Given the description of an element on the screen output the (x, y) to click on. 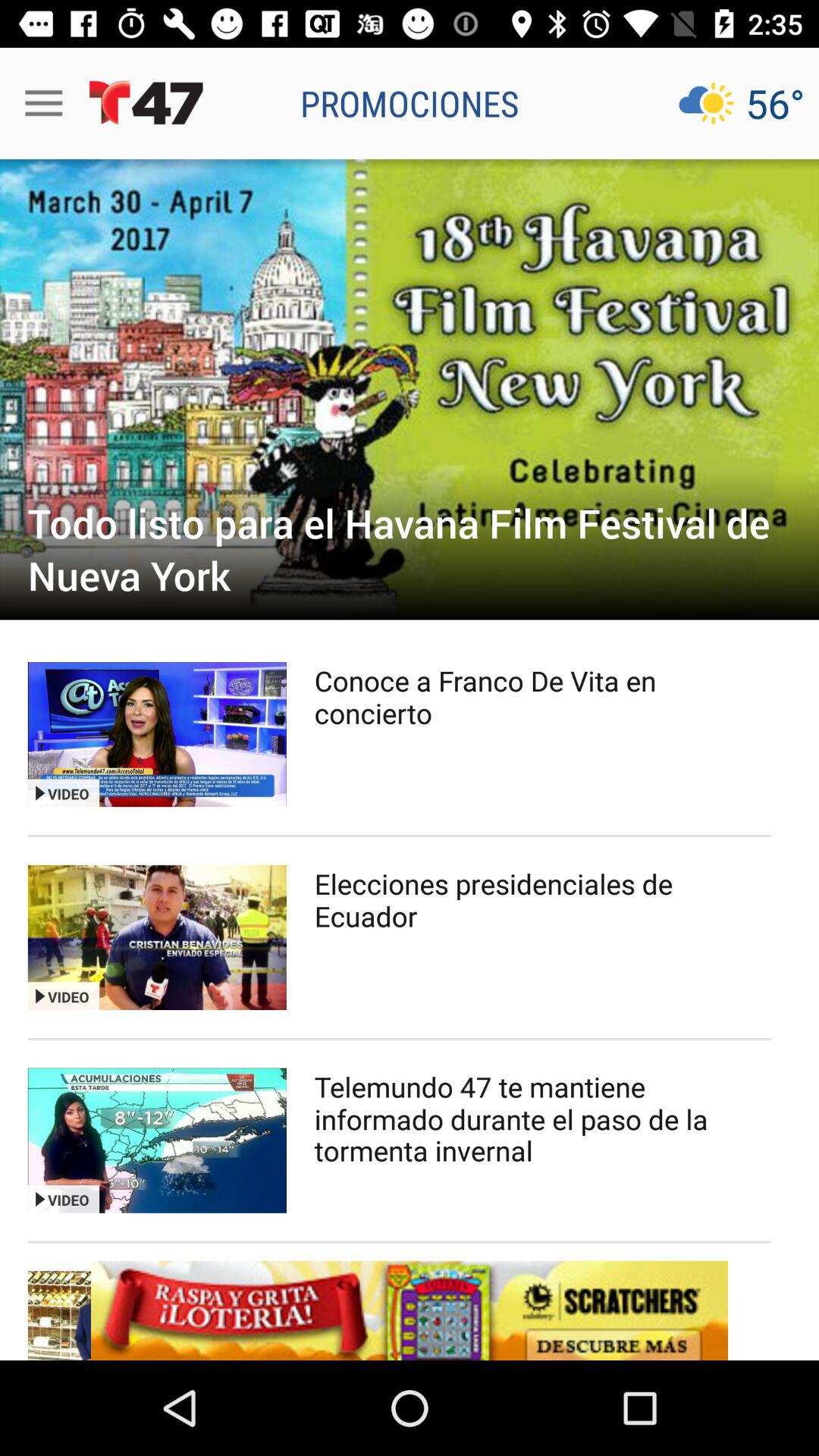
open promociones (409, 103)
